Given the description of an element on the screen output the (x, y) to click on. 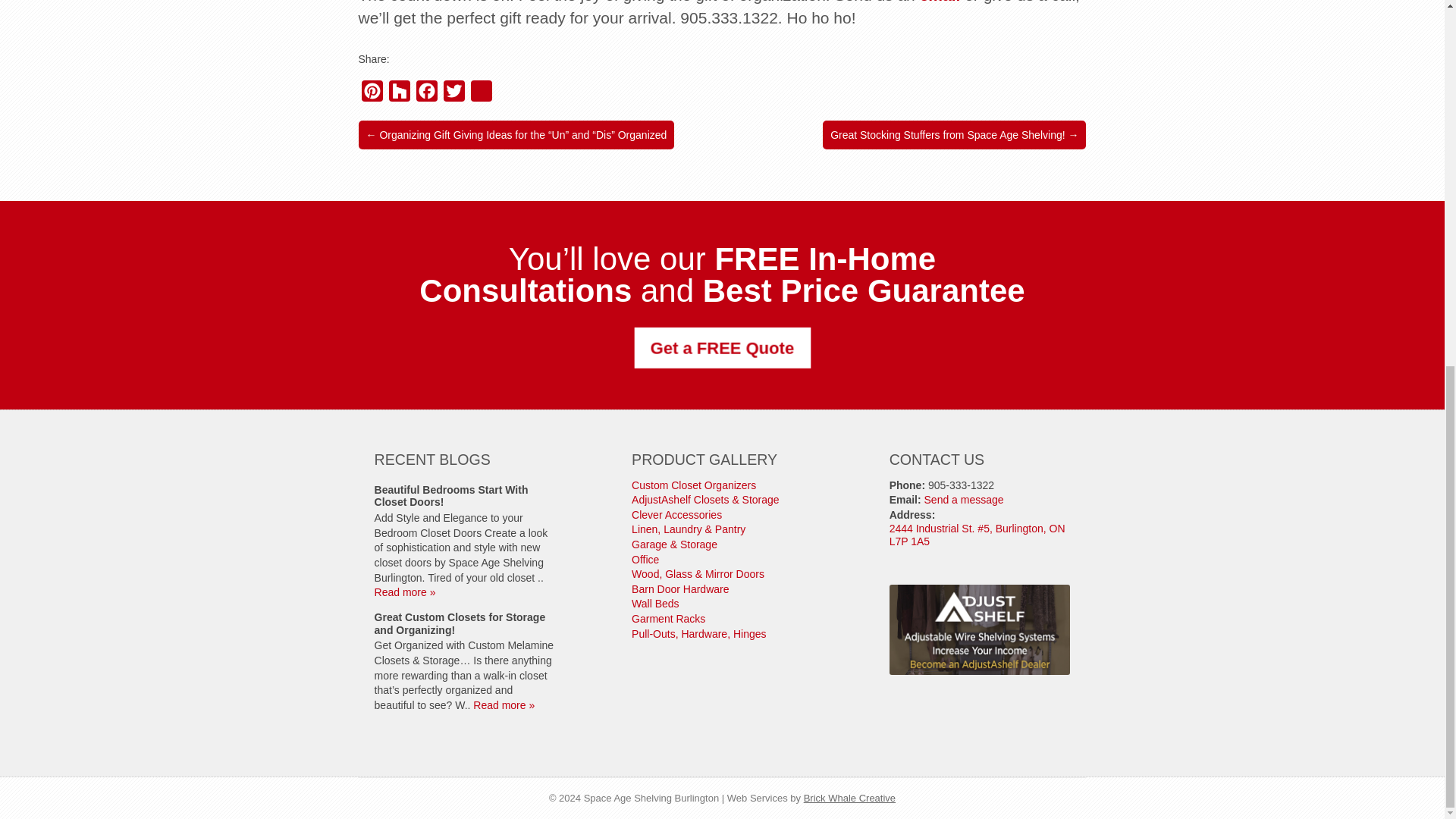
Pull-Outs, Hardware, Hinges (698, 633)
Wall Beds (655, 603)
Custom Closet Organizers (693, 485)
email (940, 2)
Houzz (398, 94)
Houzz (398, 94)
Get a FREE Quote (718, 346)
Pinterest (371, 94)
Facebook (425, 94)
LinkedIn (481, 94)
Barn Door Hardware (680, 589)
Clever Accessories (676, 514)
Twitter (453, 94)
Pinterest (371, 94)
Garment Racks (667, 618)
